Given the description of an element on the screen output the (x, y) to click on. 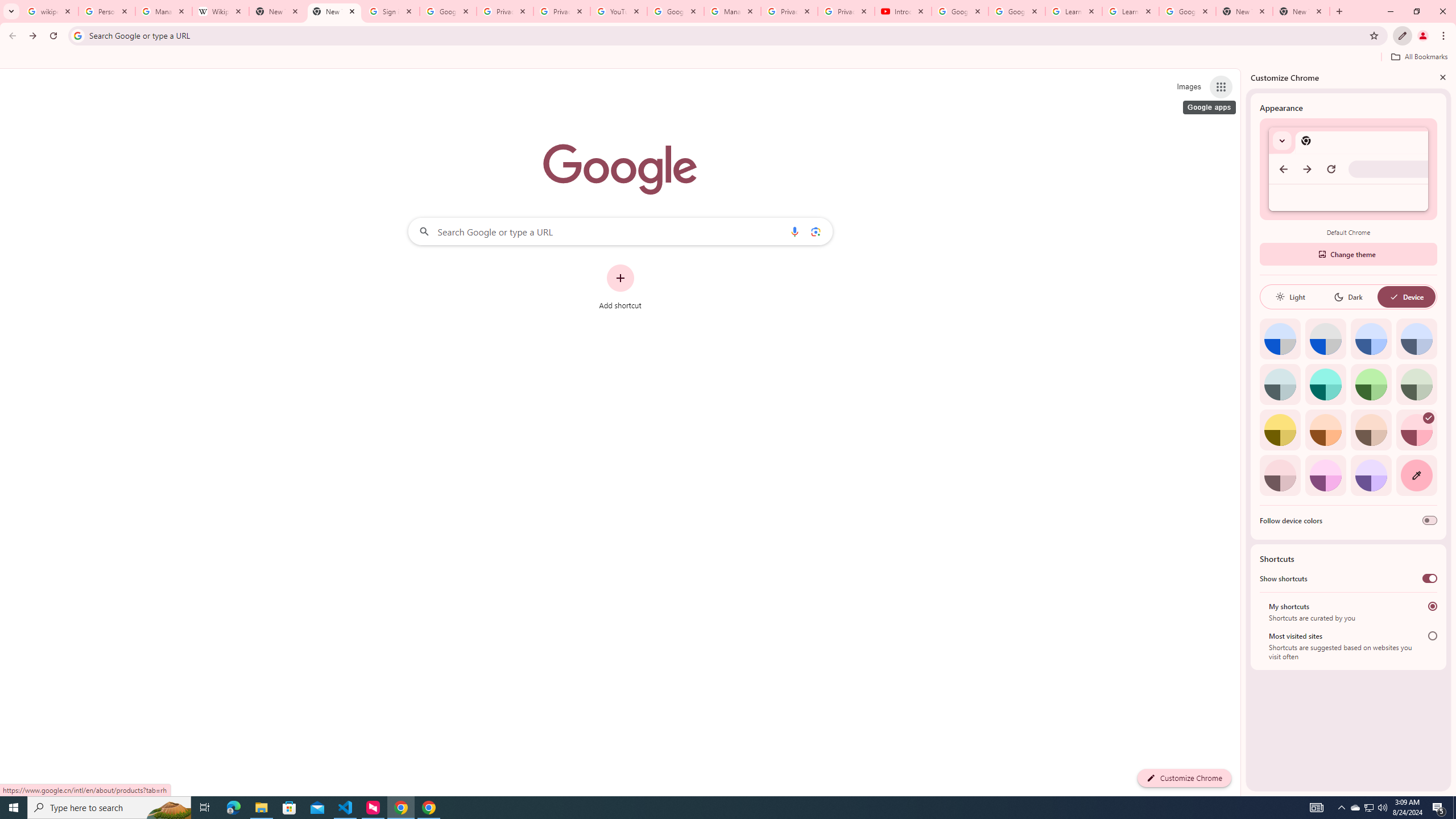
AutomationID: svg (1428, 417)
Google Account Help (959, 11)
Device (1406, 296)
Grey default color (1325, 338)
My shortcuts (1432, 605)
Viridian (1416, 383)
Change theme (1348, 254)
Violet (1371, 475)
Customize Chrome (1402, 35)
Citron (1279, 429)
Show shortcuts (1429, 578)
Introduction | Google Privacy Policy - YouTube (902, 11)
